Given the description of an element on the screen output the (x, y) to click on. 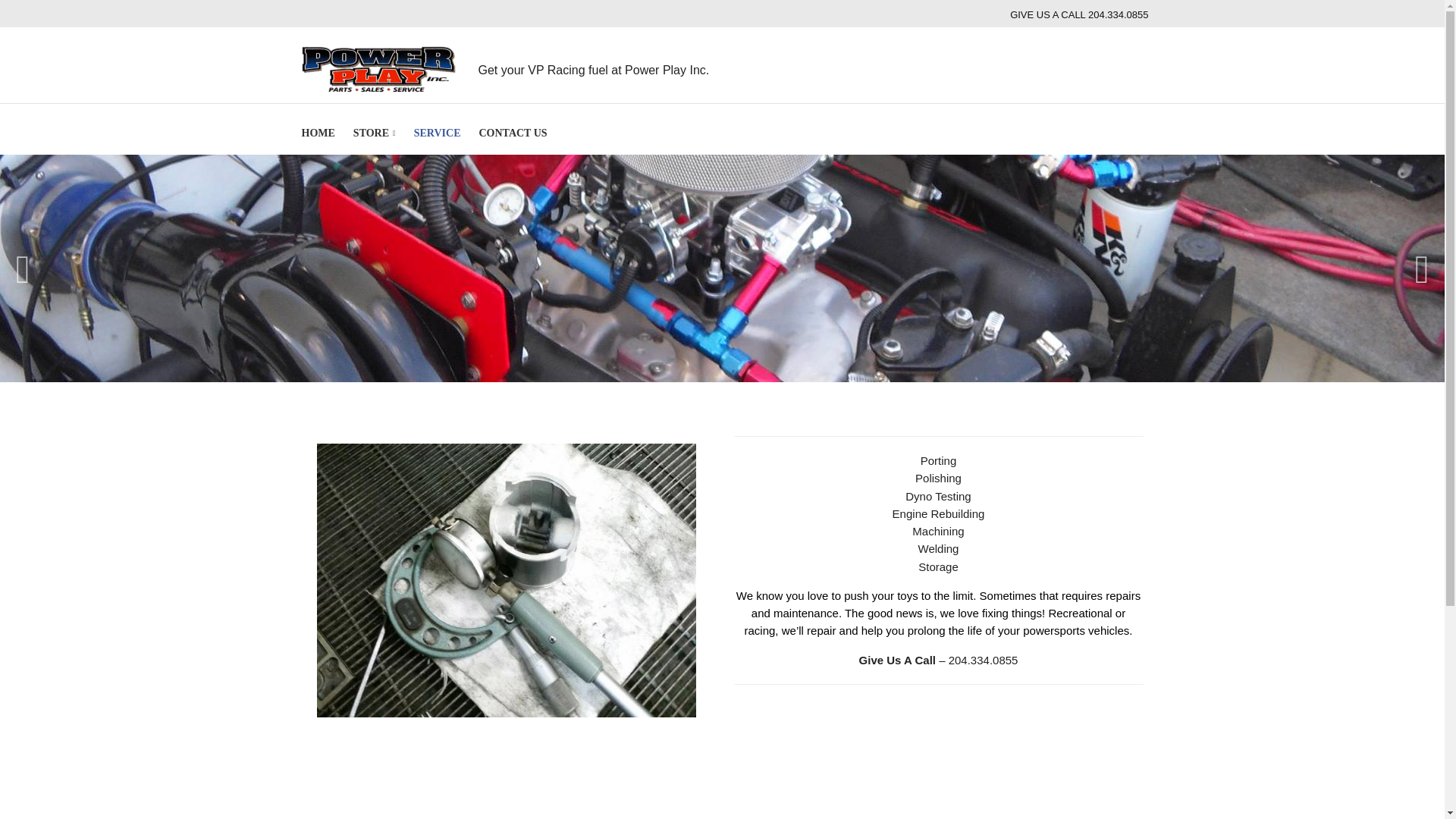
STORE (374, 133)
CONTACT US (513, 132)
SERVICE (437, 132)
